Given the description of an element on the screen output the (x, y) to click on. 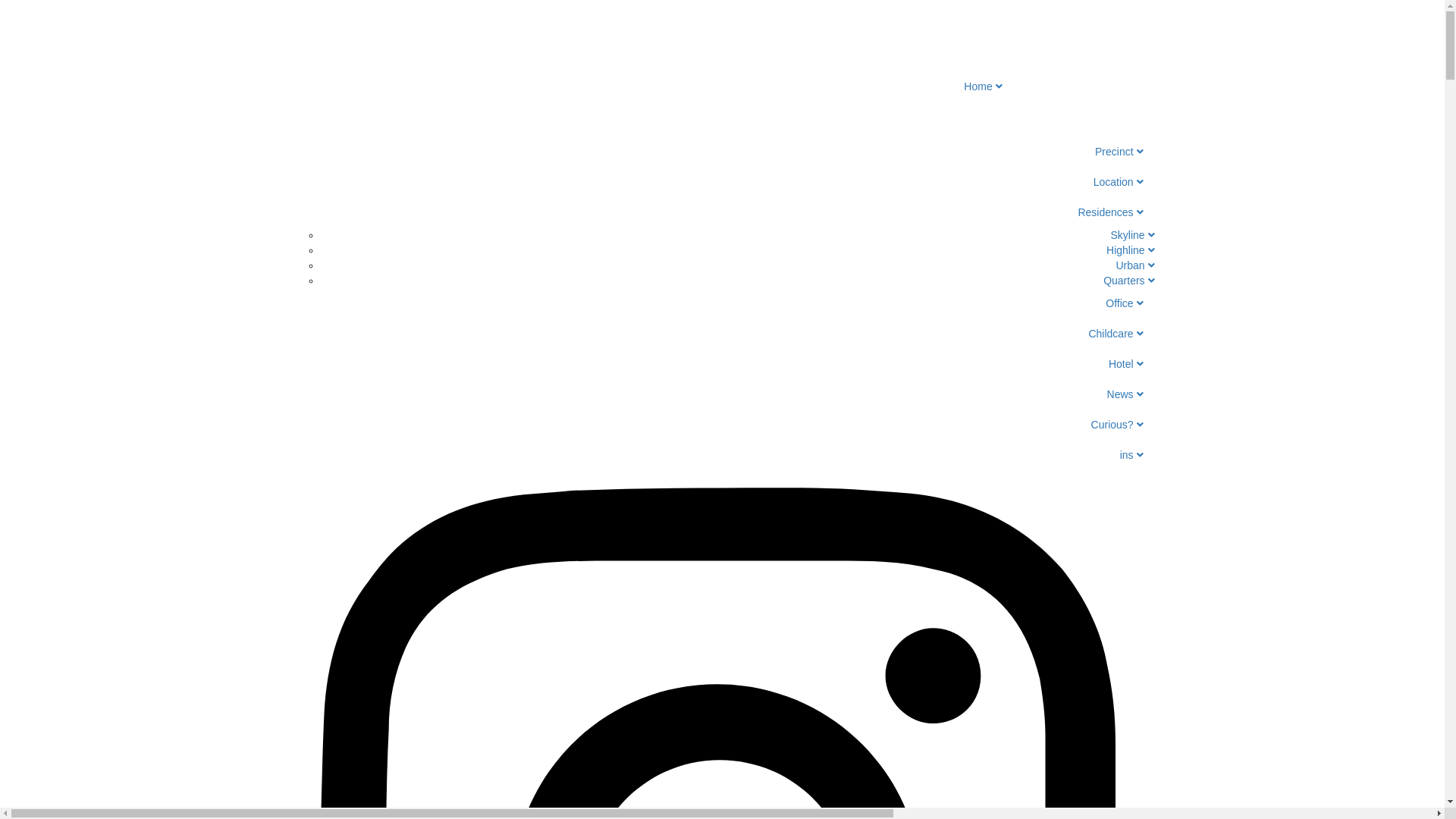
Curious? Element type: text (721, 424)
Quarters Element type: text (1128, 280)
Residences Element type: text (721, 212)
Office Element type: text (721, 303)
Highline Element type: text (1130, 250)
Skyline Element type: text (1132, 235)
Urban Element type: text (1134, 265)
Precinct Element type: text (721, 151)
Location Element type: text (721, 181)
Home Element type: text (721, 68)
News Element type: text (721, 394)
Hotel Element type: text (721, 363)
Childcare Element type: text (721, 333)
